Given the description of an element on the screen output the (x, y) to click on. 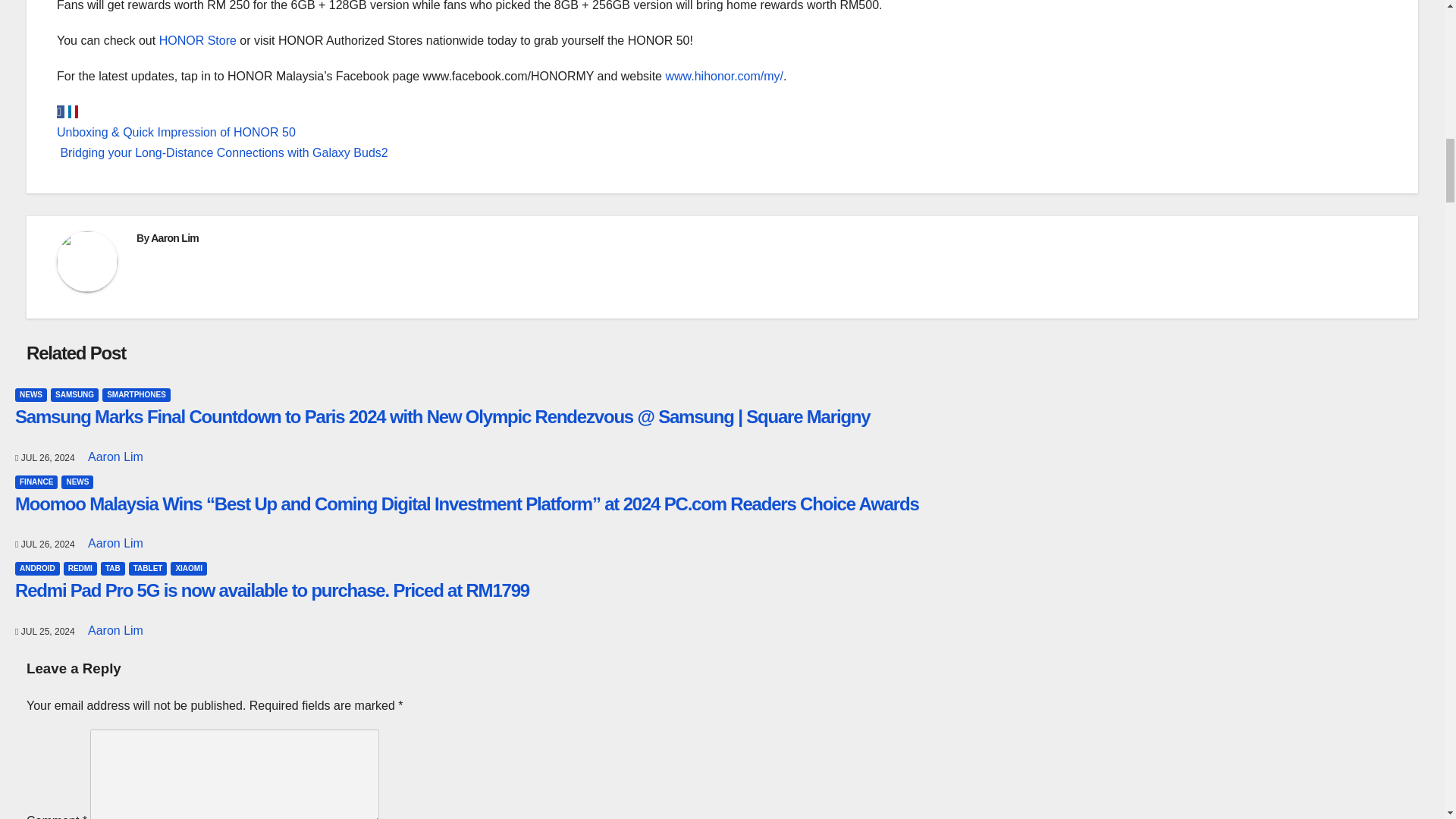
HONOR Store (196, 40)
